Given the description of an element on the screen output the (x, y) to click on. 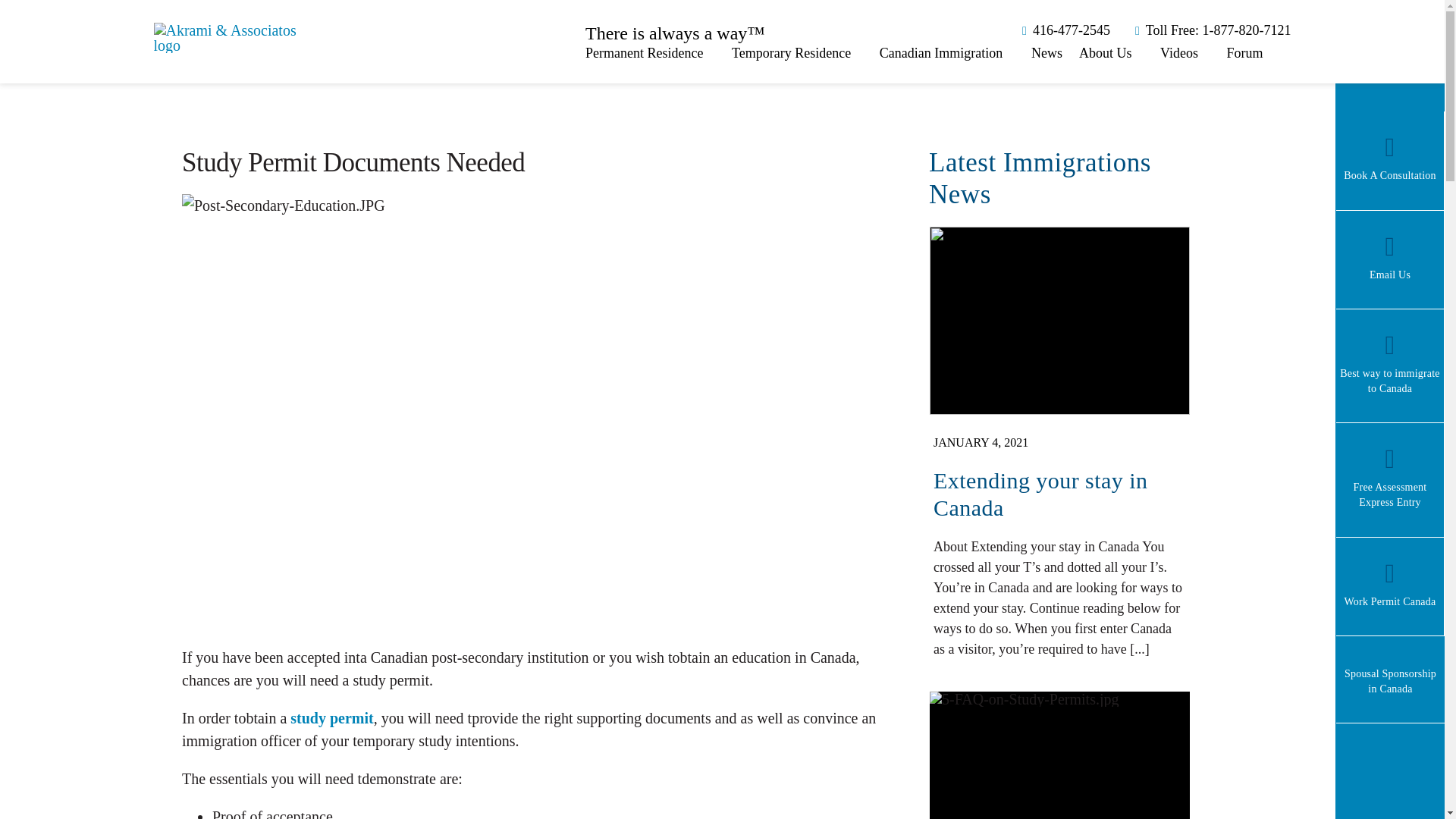
416-477-2545 (1062, 30)
5-FAQ-on-Study-Permits.jpg (1024, 698)
Temporary Residence (797, 52)
Permanent Residence (649, 52)
Toll Free: 1-877-820-7121 (1210, 30)
